Given the description of an element on the screen output the (x, y) to click on. 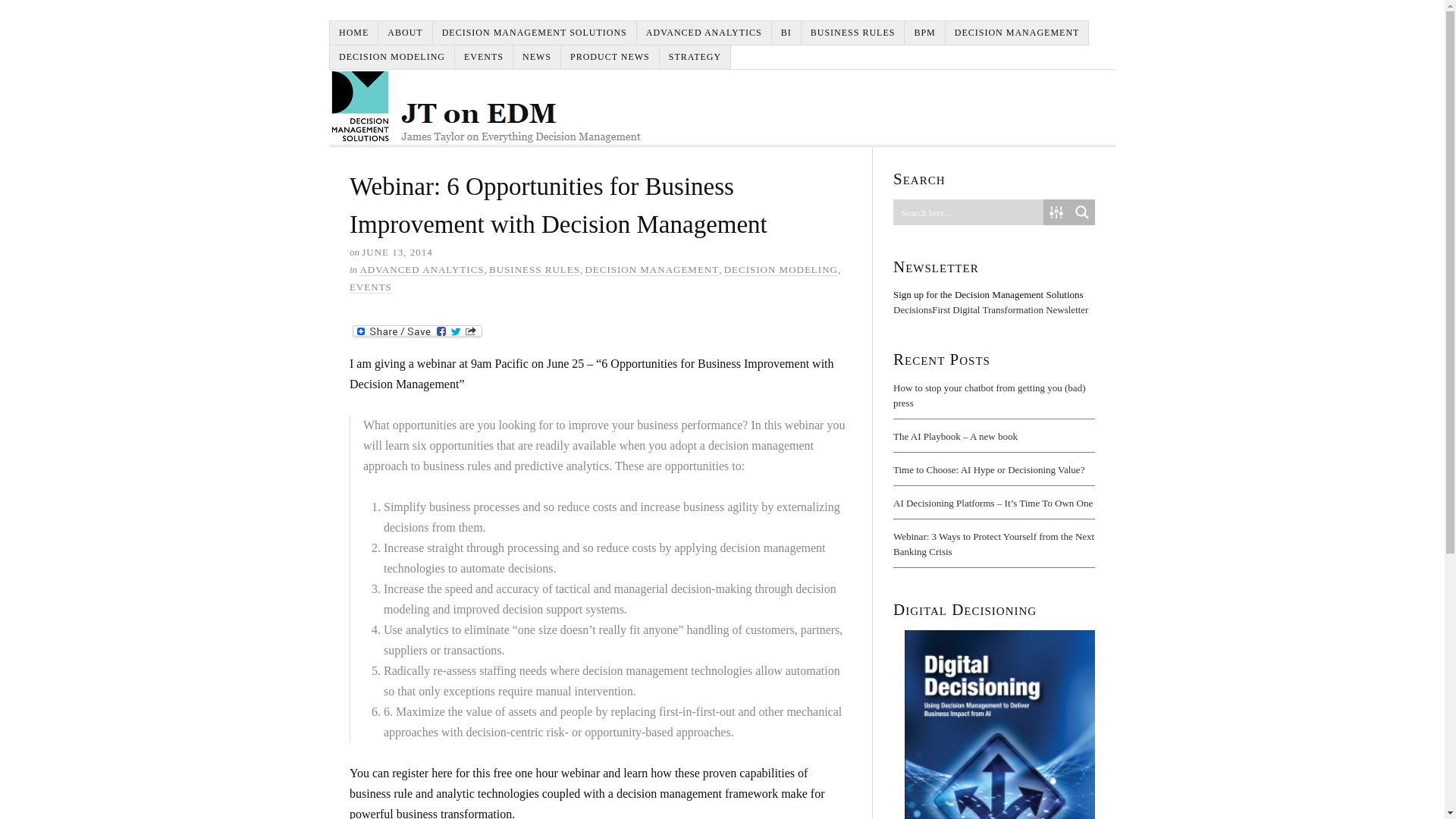
HOME (354, 32)
EVENTS (483, 57)
EVENTS (370, 287)
DECISION MANAGEMENT (652, 269)
DECISION MANAGEMENT (1016, 32)
DecisionsFirst Digital Transformation Newsletter (990, 309)
BPM (924, 32)
DECISION MODELING (780, 269)
DECISION MANAGEMENT SOLUTIONS (534, 32)
NEWS (536, 57)
